Given the description of an element on the screen output the (x, y) to click on. 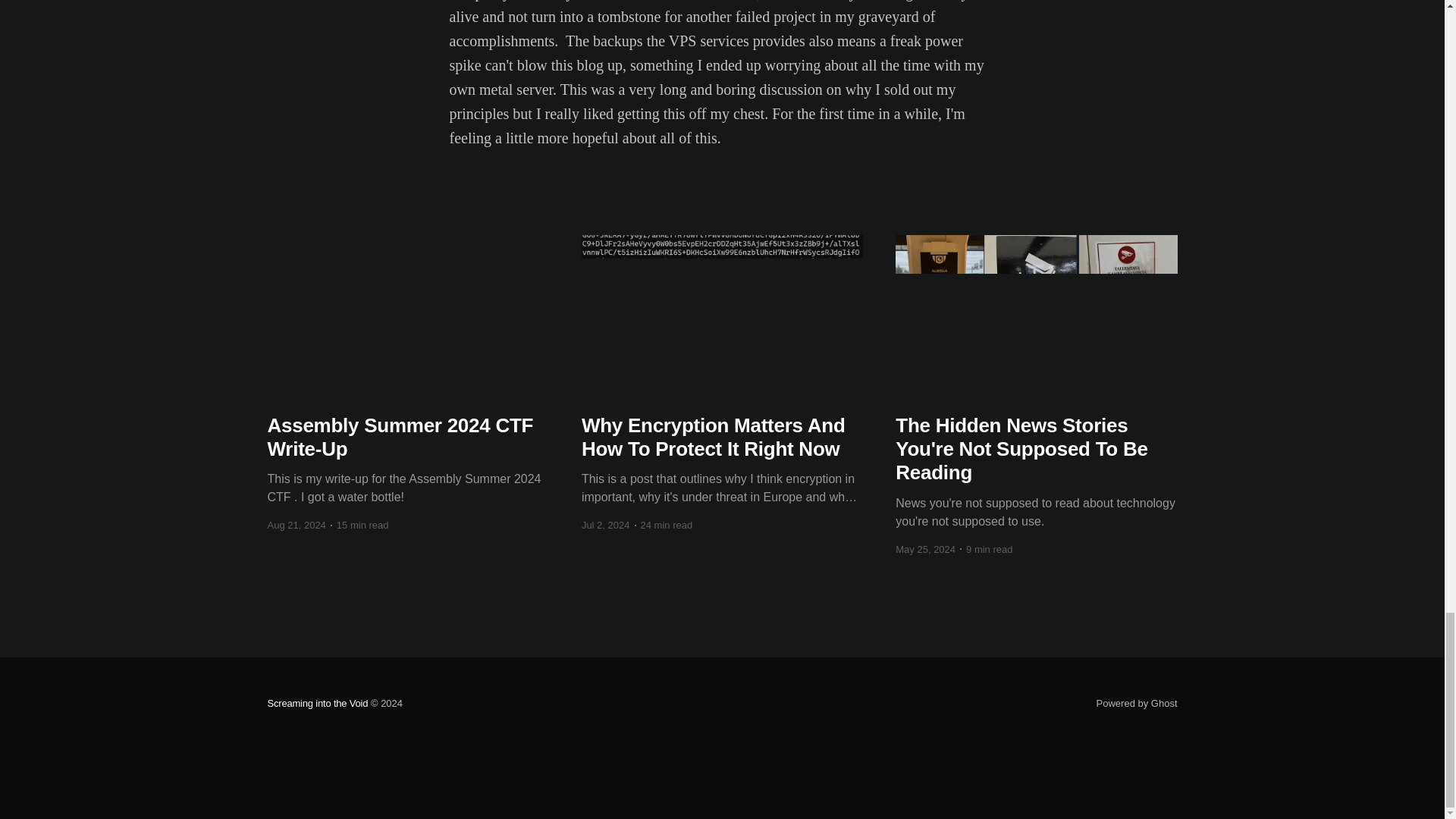
Screaming into the Void (317, 703)
Powered by Ghost (1136, 703)
